Given the description of an element on the screen output the (x, y) to click on. 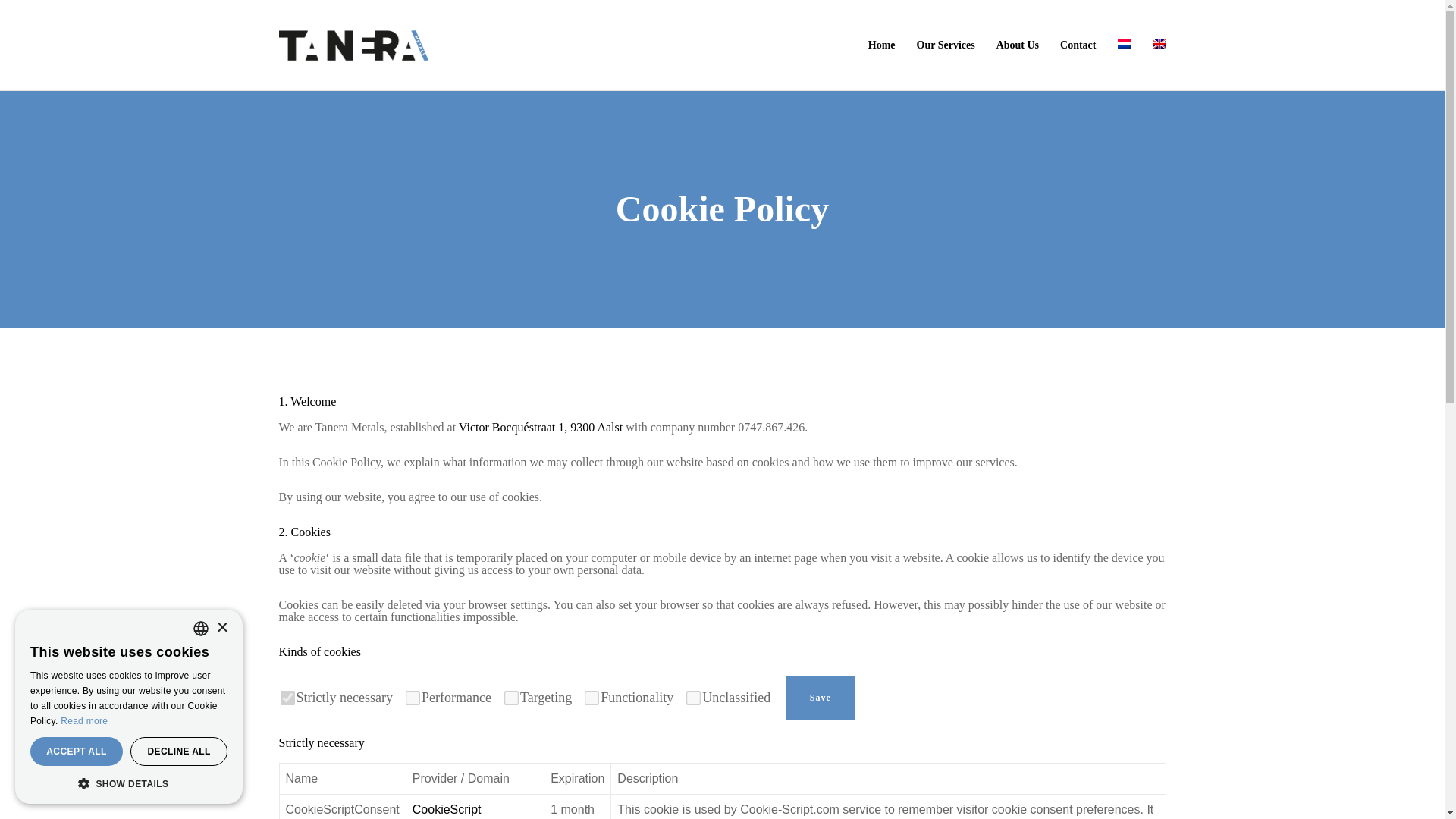
unclassified (690, 695)
strict (284, 695)
Contact (1067, 45)
functionality (589, 695)
About Us (1007, 45)
CookieScript (446, 809)
targeting (508, 695)
performance (410, 695)
Read more (84, 720)
Our Services (935, 45)
Save (820, 697)
Home (871, 45)
